Given the description of an element on the screen output the (x, y) to click on. 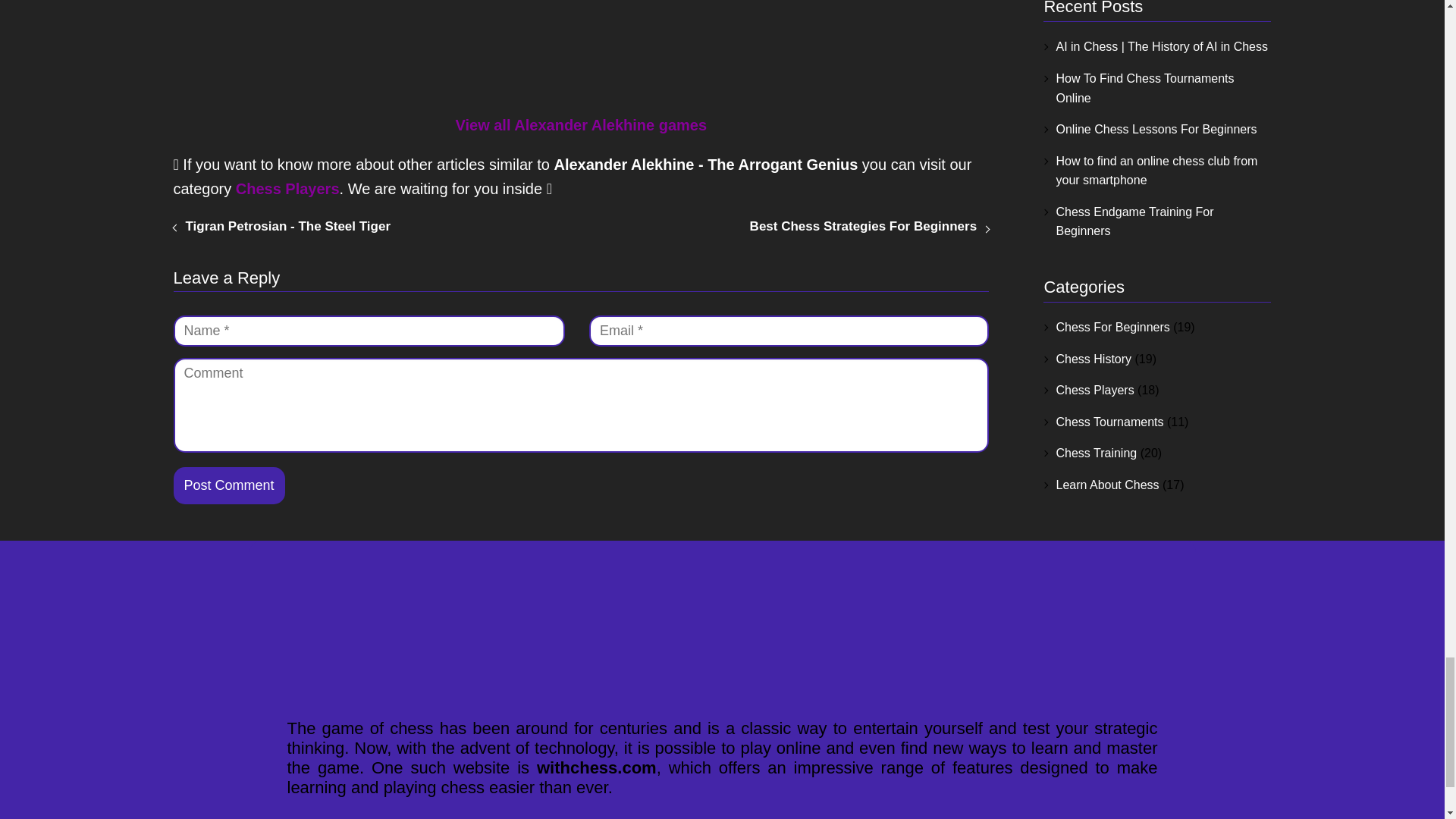
Best Chess Strategies For Beginners (862, 226)
Chess Players (287, 188)
Tigran Petrosian - The Steel Tiger (287, 226)
View all Alexander Alekhine games (580, 125)
Post Comment (228, 485)
